Given the description of an element on the screen output the (x, y) to click on. 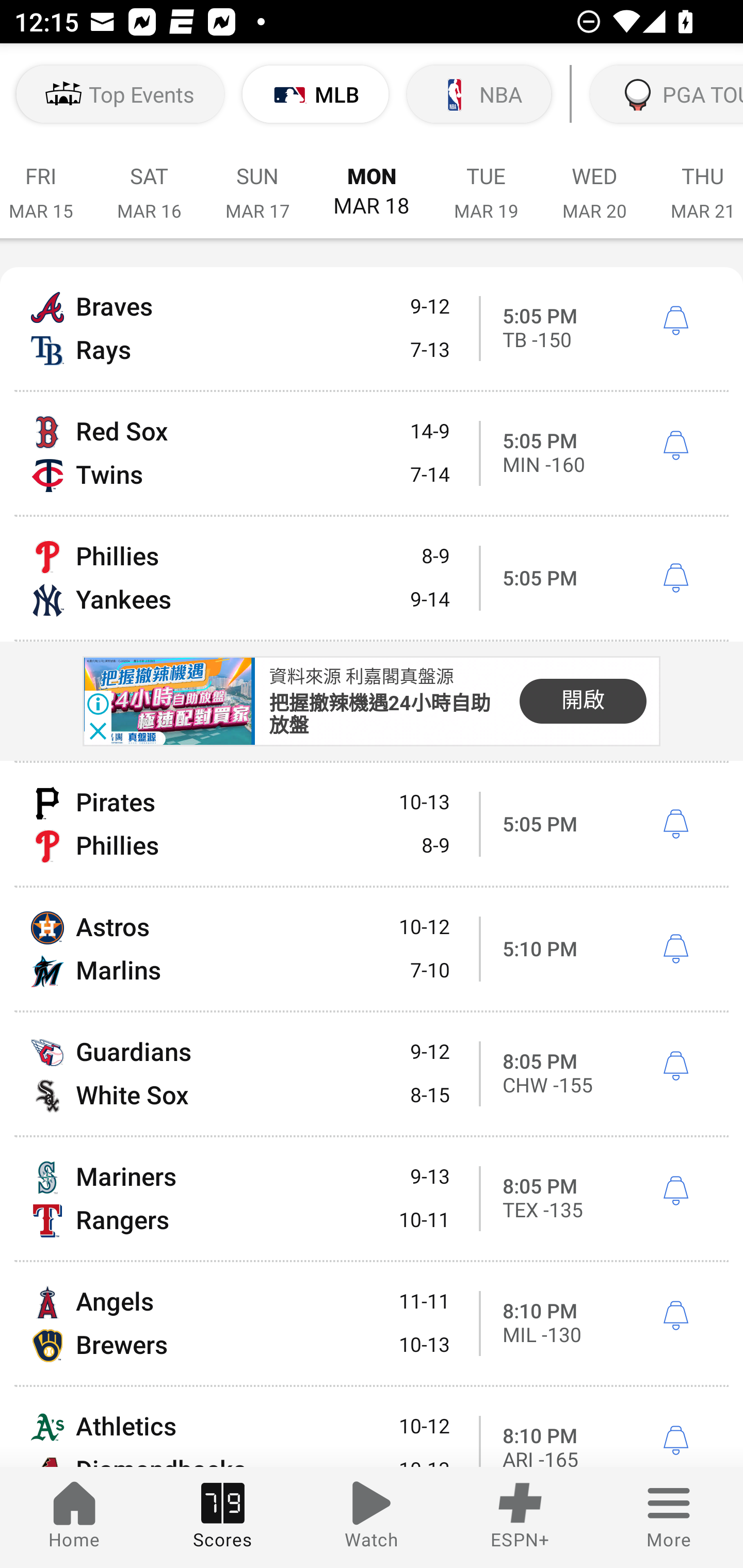
 Top Events (119, 93)
MLB (315, 93)
NBA (479, 93)
PGA TOUR (664, 93)
FRI MAR 15 (47, 181)
SAT MAR 16 (149, 181)
SUN MAR 17 (257, 181)
MON MAR 18 (371, 181)
TUE MAR 19 (485, 181)
WED MAR 20 (594, 181)
THU MAR 21 (695, 181)
Braves 9-12 Rays 7-13 5:05 PM TB -150 í (371, 328)
í (675, 320)
Red Sox 14-9 Twins 7-14 5:05 PM MIN -160 í (371, 453)
í (675, 445)
Phillies 8-9 Yankees 9-14 5:05 PM í (371, 578)
í (675, 578)
資料來源 利嘉閣真盤源 (361, 676)
開啟 (582, 700)
把握撤辣機遇24小時自助 放盤 把握撤辣機遇24小時自助 放盤 (379, 714)
Pirates 10-13 Phillies 8-9 5:05 PM í (371, 824)
í (675, 823)
Astros 10-12 Marlins 7-10 5:10 PM í (371, 948)
í (675, 948)
Guardians 9-12 White Sox 8-15 8:05 PM CHW -155 í (371, 1073)
í (675, 1065)
Mariners 9-13 Rangers 10-11 8:05 PM TEX -135 í (371, 1198)
í (675, 1190)
Angels 11-11 Brewers 10-13 8:10 PM MIL -130 í (371, 1323)
í (675, 1315)
í (675, 1440)
Home (74, 1517)
Watch (371, 1517)
ESPN+ (519, 1517)
More (668, 1517)
